Given the description of an element on the screen output the (x, y) to click on. 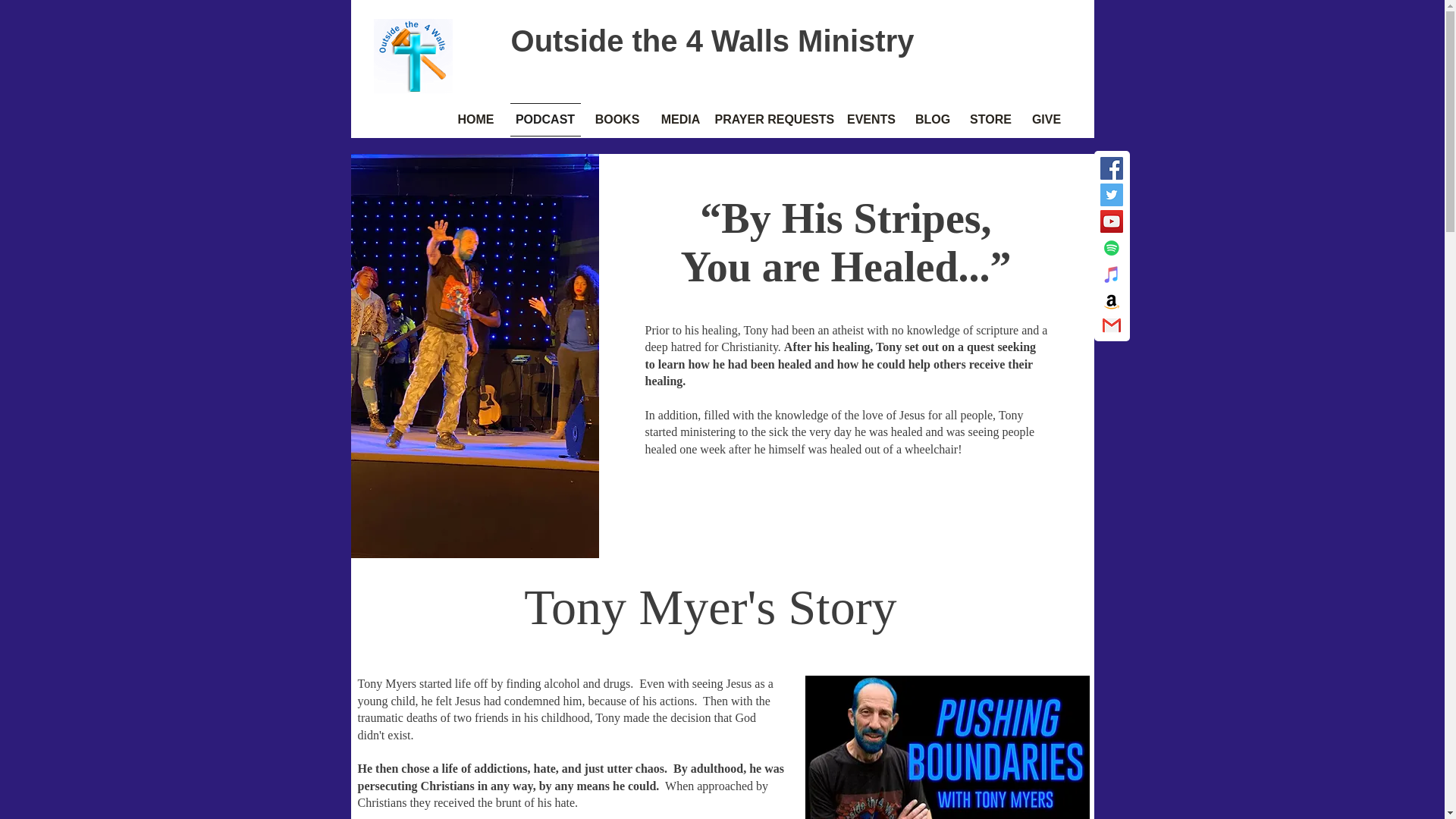
HOME (476, 119)
PODCAST (545, 119)
STORE (989, 119)
GIVE (1043, 119)
Outside the 4 Walls Ministry (712, 41)
EVENTS (870, 119)
BOOKS (616, 119)
MEDIA (680, 119)
PRAYER REQUESTS (774, 119)
BLOG (932, 119)
